Given the description of an element on the screen output the (x, y) to click on. 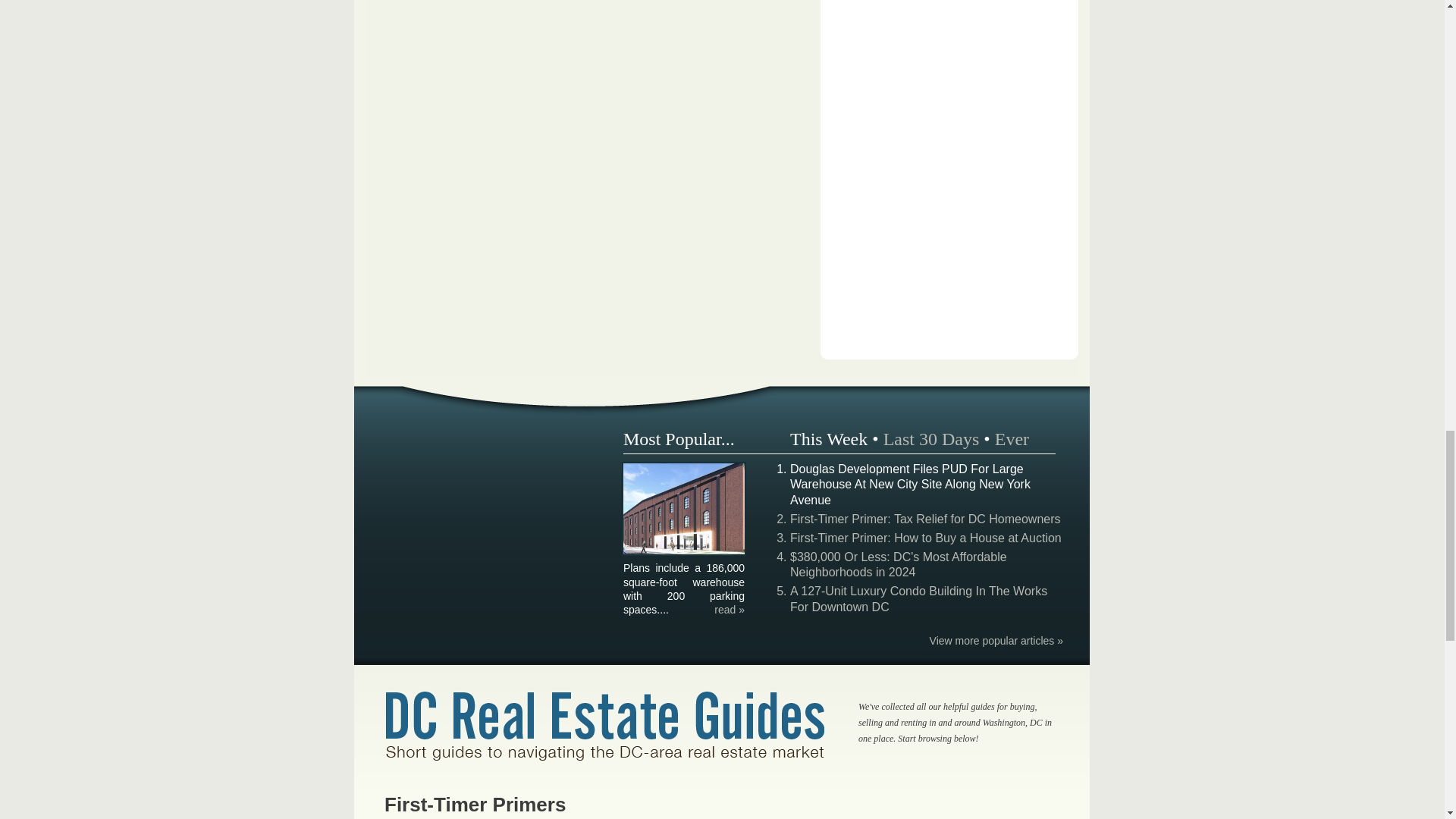
Ever (1011, 438)
This Week (828, 438)
Last 30 Days (931, 438)
Read the article (729, 609)
